Given the description of an element on the screen output the (x, y) to click on. 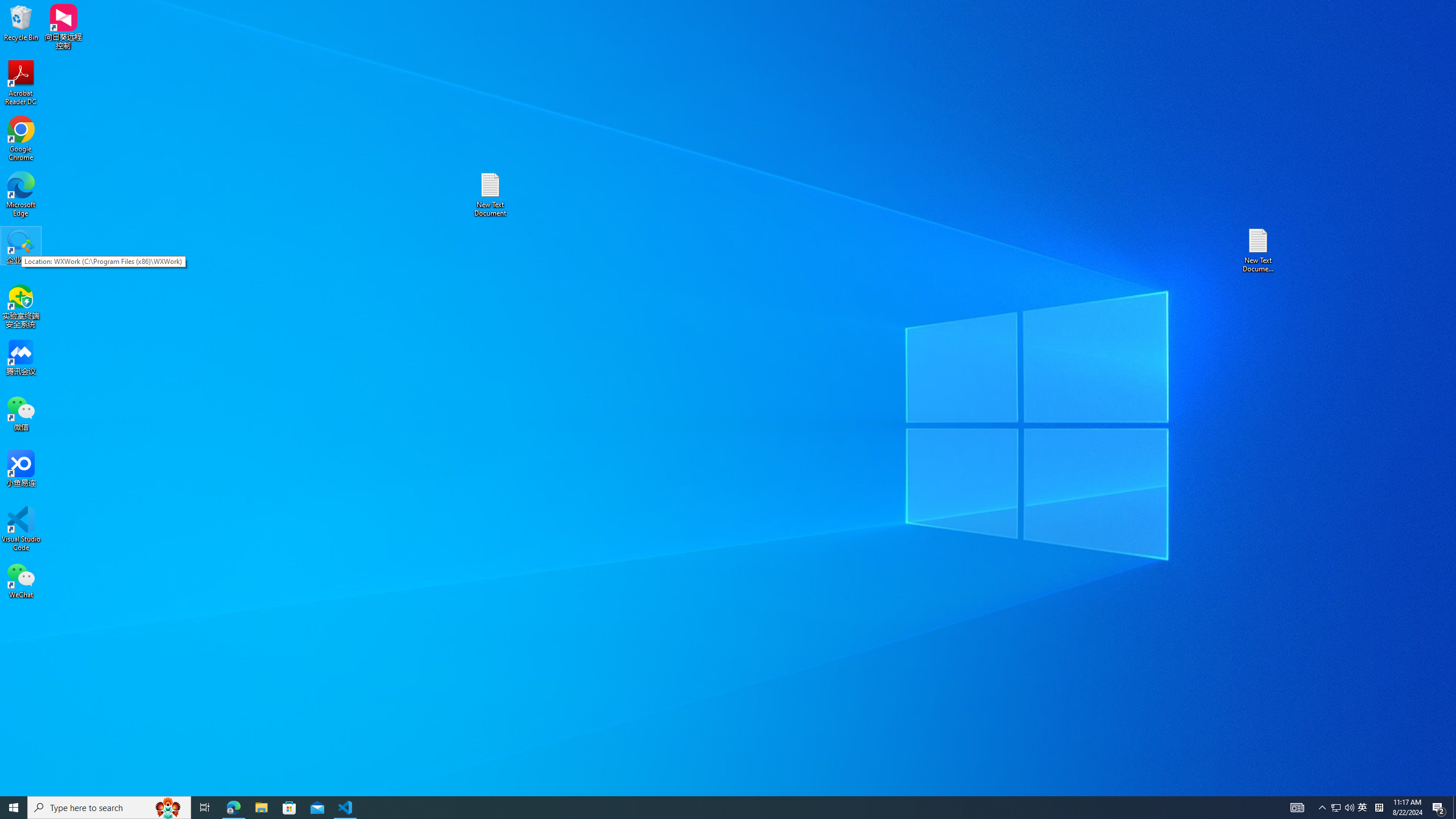
WeChat (21, 580)
Task View (204, 807)
Microsoft Edge - 1 running window (233, 807)
Show desktop (1454, 807)
Search highlights icon opens search home window (167, 807)
User Promoted Notification Area (1342, 807)
Visual Studio Code (21, 528)
Q2790: 100% (1349, 807)
AutomationID: 4105 (1297, 807)
Type here to search (108, 807)
Acrobat Reader DC (21, 82)
Recycle Bin (21, 22)
Tray Input Indicator - Chinese (Simplified, China) (1378, 807)
New Text Document (489, 194)
